Given the description of an element on the screen output the (x, y) to click on. 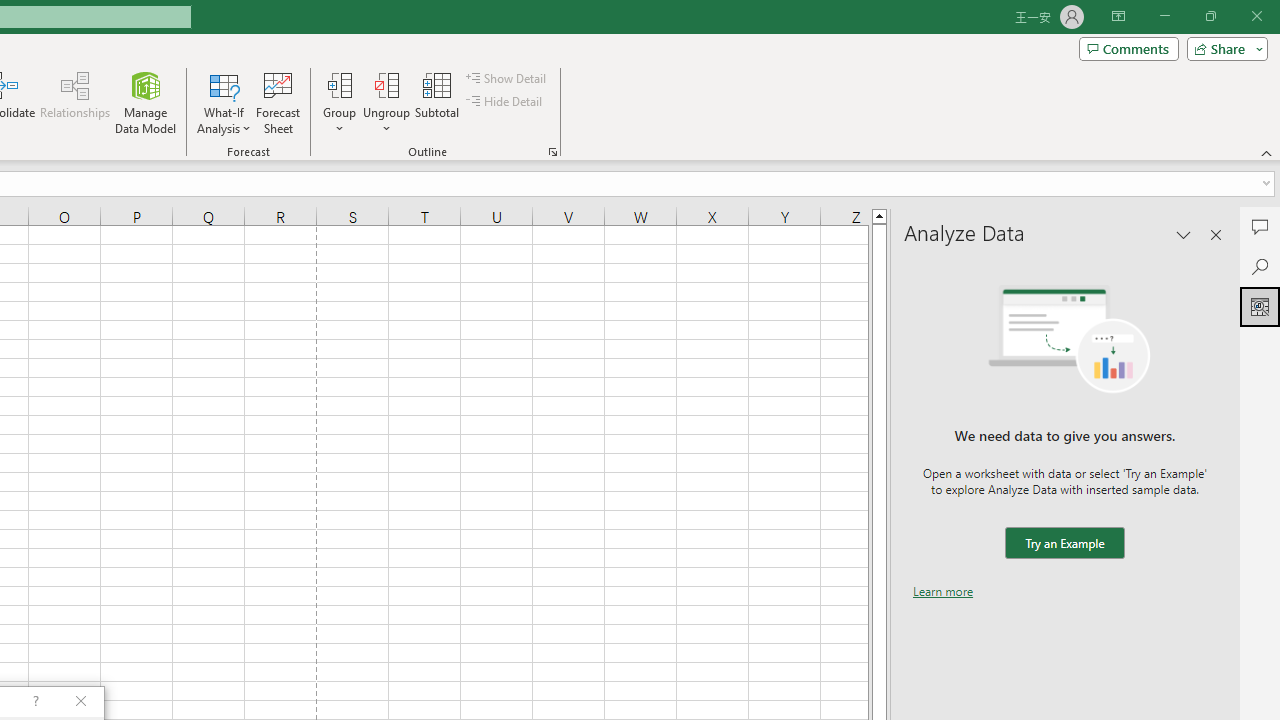
Group... (339, 102)
Group... (339, 84)
What-If Analysis (223, 102)
Subtotal (437, 102)
Manage Data Model (145, 102)
Analyze Data (1260, 306)
Restore Down (1210, 16)
Relationships (75, 102)
Learn more (943, 591)
